Given the description of an element on the screen output the (x, y) to click on. 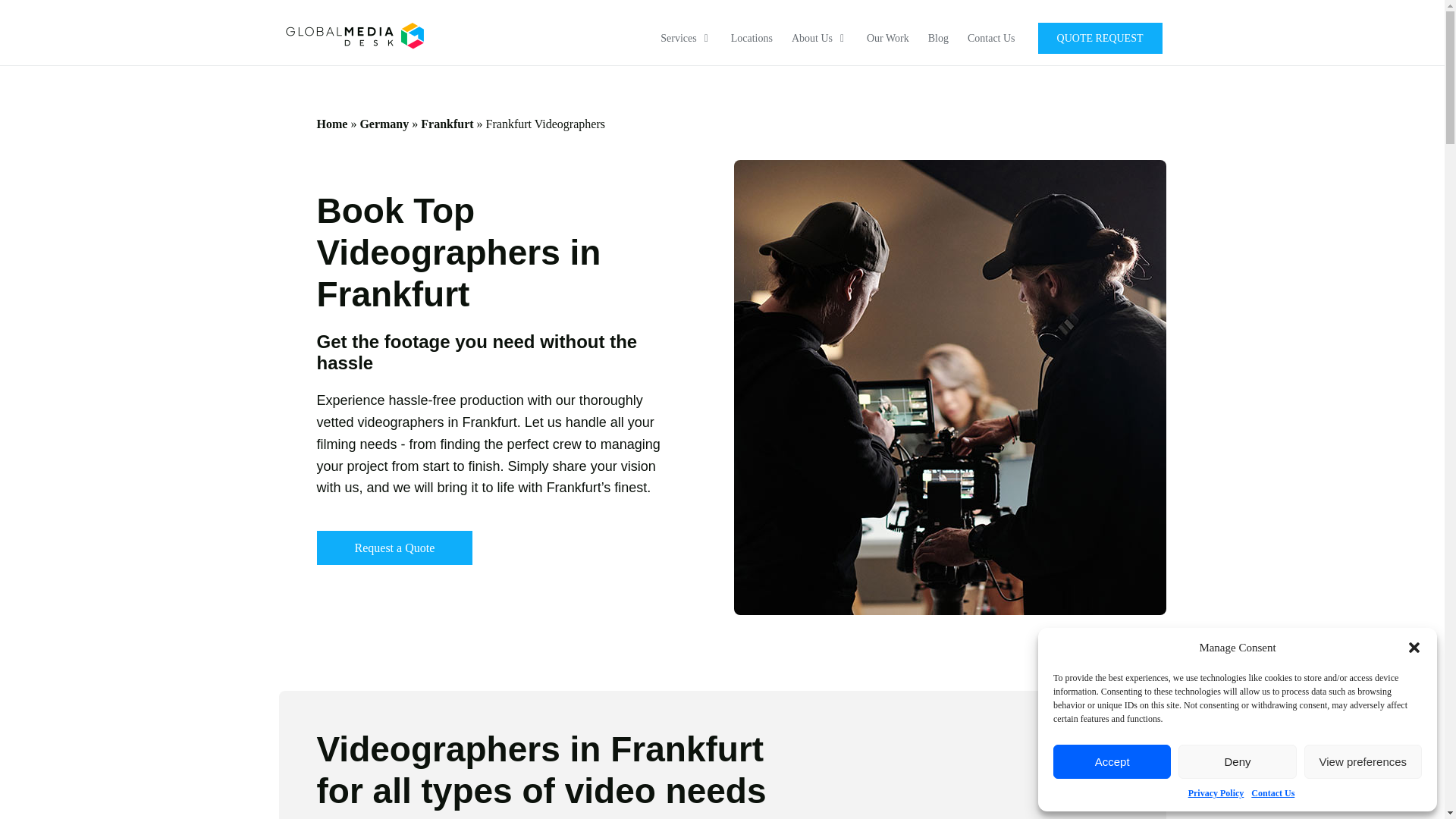
Accept (1111, 761)
Contact Us (991, 37)
QUOTE REQUEST (1099, 37)
Contact Us (1272, 793)
Privacy Policy (1216, 793)
Blog (938, 37)
View preferences (1363, 761)
Services (686, 37)
About Us (819, 37)
Our Work (887, 37)
Deny (1236, 761)
Locations (751, 37)
